Given the description of an element on the screen output the (x, y) to click on. 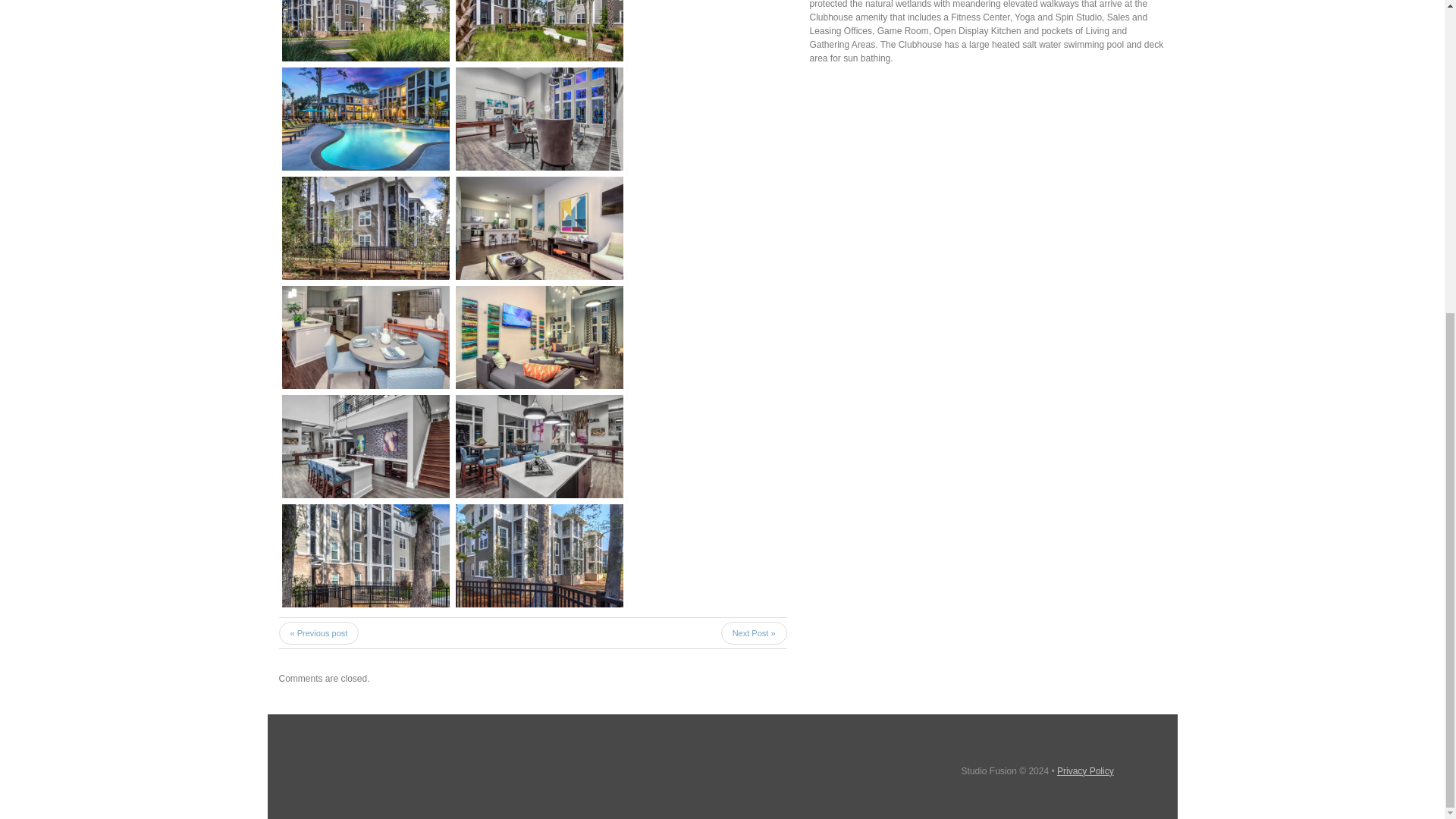
Privacy Policy (1085, 770)
Studio Fusion (988, 770)
Privacy Policy (1085, 770)
